Given the description of an element on the screen output the (x, y) to click on. 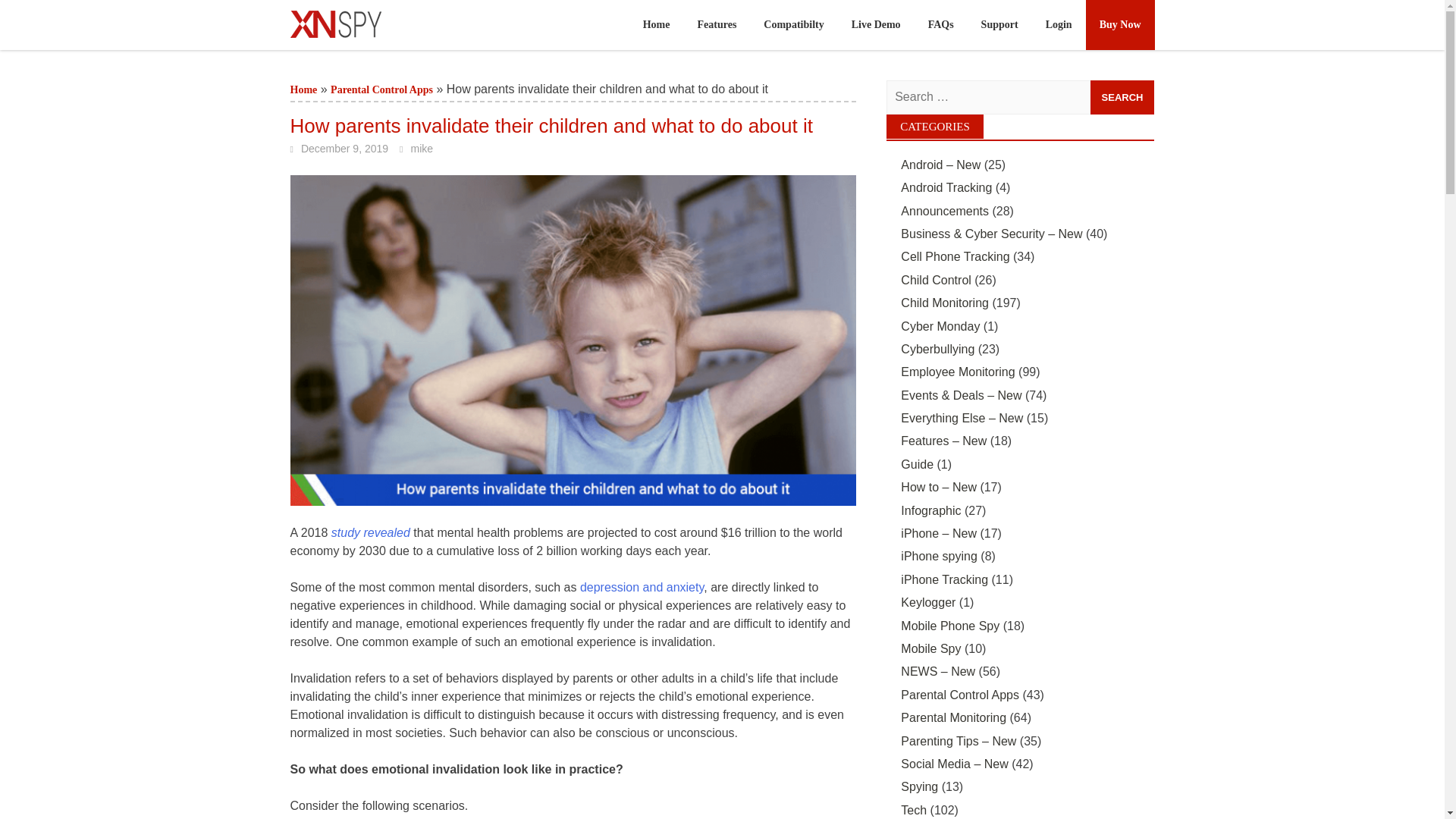
Parental Control Apps (381, 89)
Announcements (944, 210)
Android Tracking (946, 187)
Login (1059, 24)
Search (1122, 97)
Home (303, 89)
Home (656, 24)
Child Monitoring (944, 302)
Search (1122, 97)
Buy Now (1120, 24)
Compatibilty (793, 24)
Search (1122, 97)
mike (421, 148)
Live Demo (876, 24)
Home (303, 89)
